Given the description of an element on the screen output the (x, y) to click on. 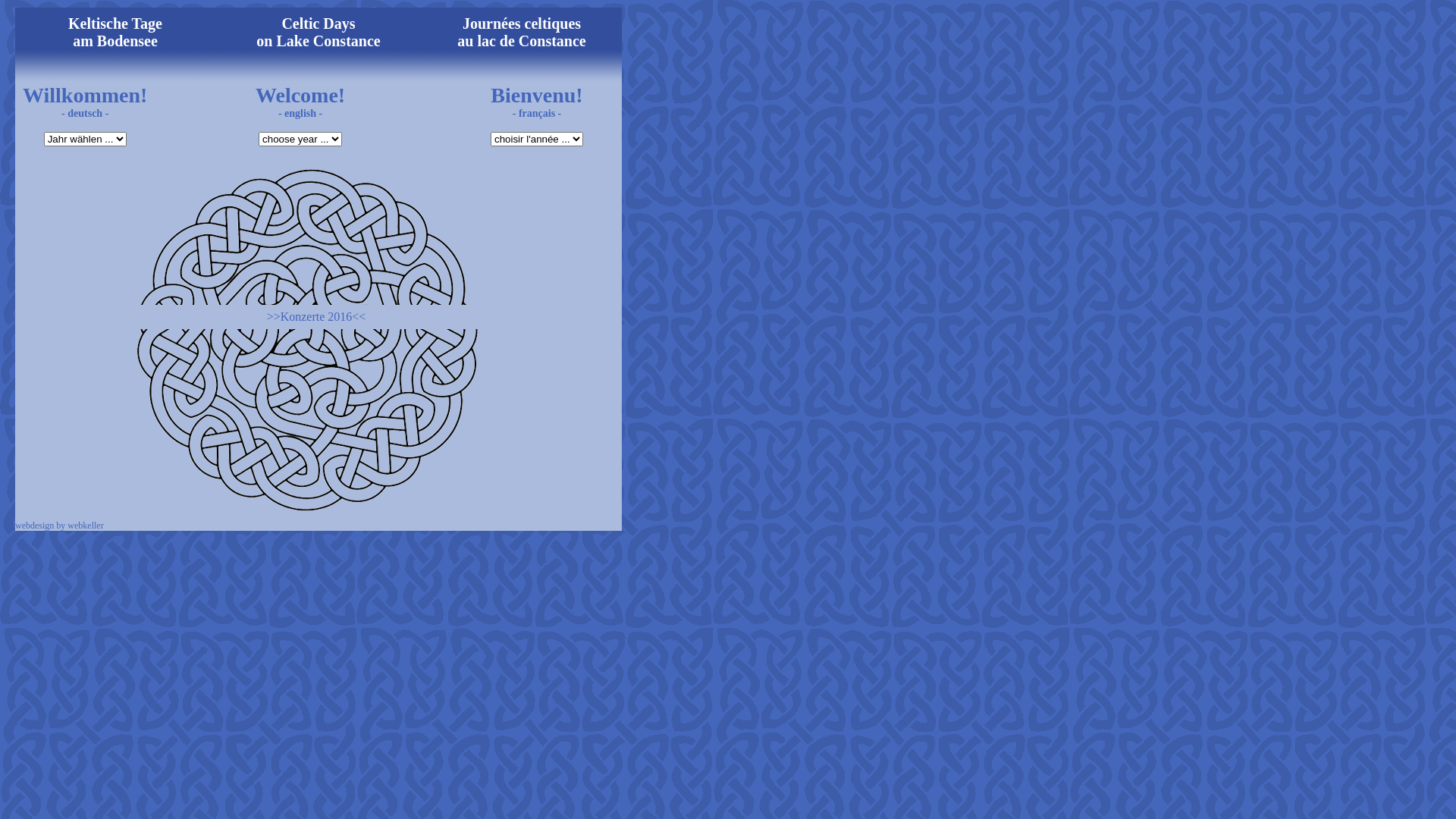
>>Konzerte 2016<< Element type: text (316, 316)
webdesign by webkeller Element type: text (59, 525)
